Given the description of an element on the screen output the (x, y) to click on. 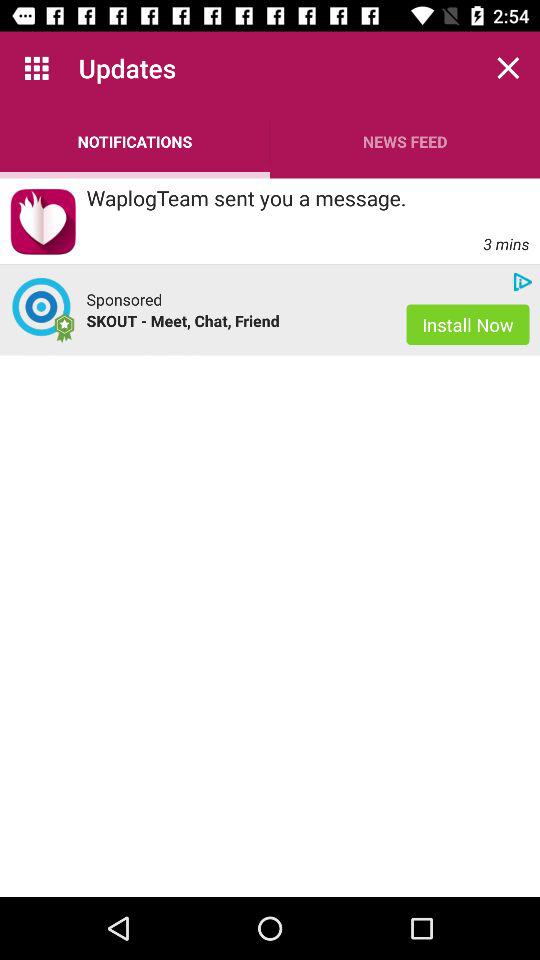
select the news feed icon (405, 141)
